Given the description of an element on the screen output the (x, y) to click on. 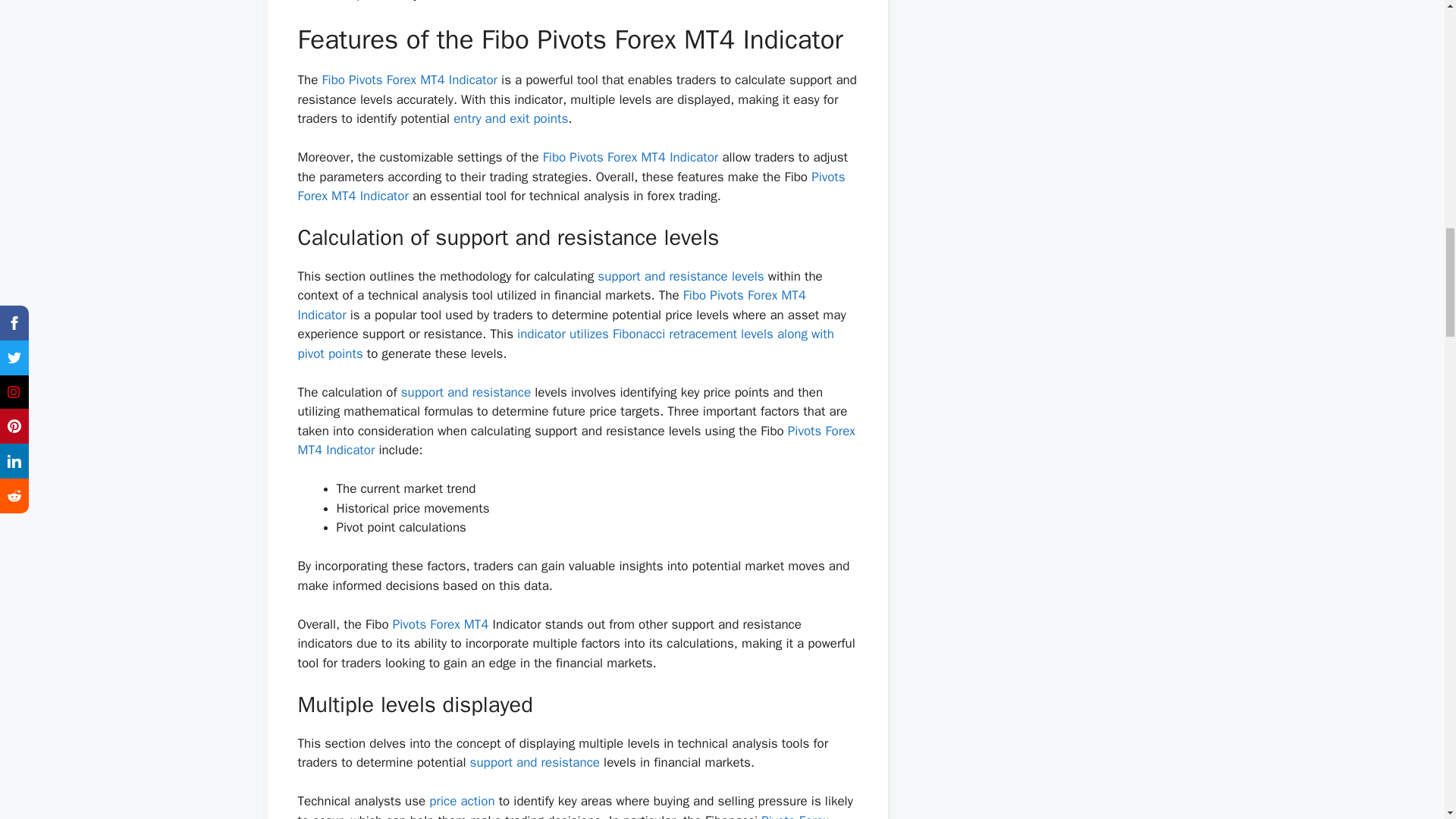
Fibo Pivots Forex MT4 Indicator (631, 157)
Fibo Pivots Forex MT4 Indicator (409, 79)
entry and exit points (509, 118)
